Given the description of an element on the screen output the (x, y) to click on. 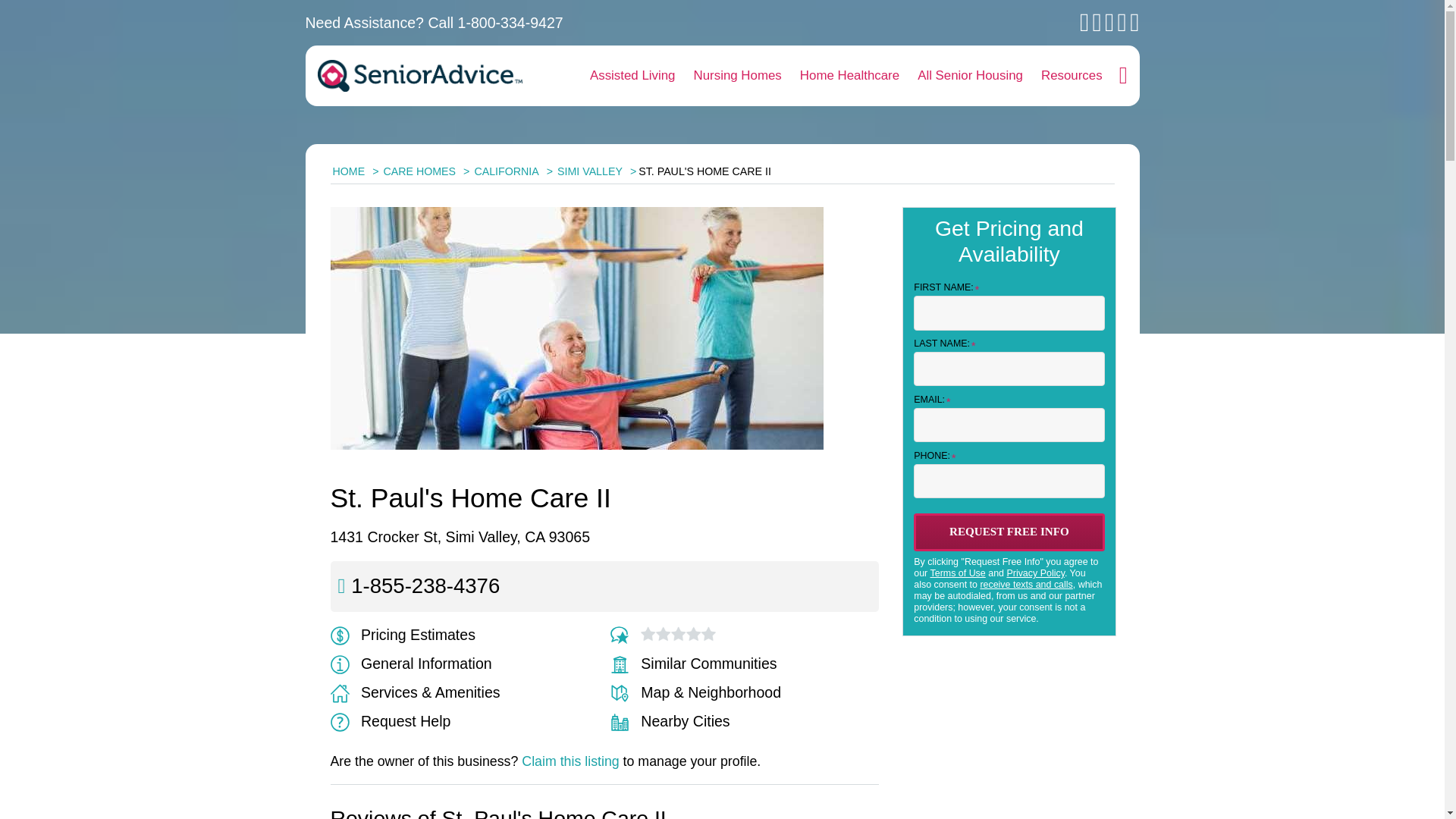
Request Free Info (1008, 531)
1-800-334-9427 (510, 22)
Cities Around Simi Valley, CA (670, 720)
About St. Paul's Home Care II in Simi Valley, CA (411, 663)
Nursing Homes (737, 75)
Request Help (390, 720)
All Senior Housing (970, 75)
0 Stars (678, 633)
Home Healthcare (849, 75)
Resources (1072, 75)
Reviews of St. Paul's Home Care II in Simi Valley, CA (623, 634)
Assisted Living (632, 75)
